Given the description of an element on the screen output the (x, y) to click on. 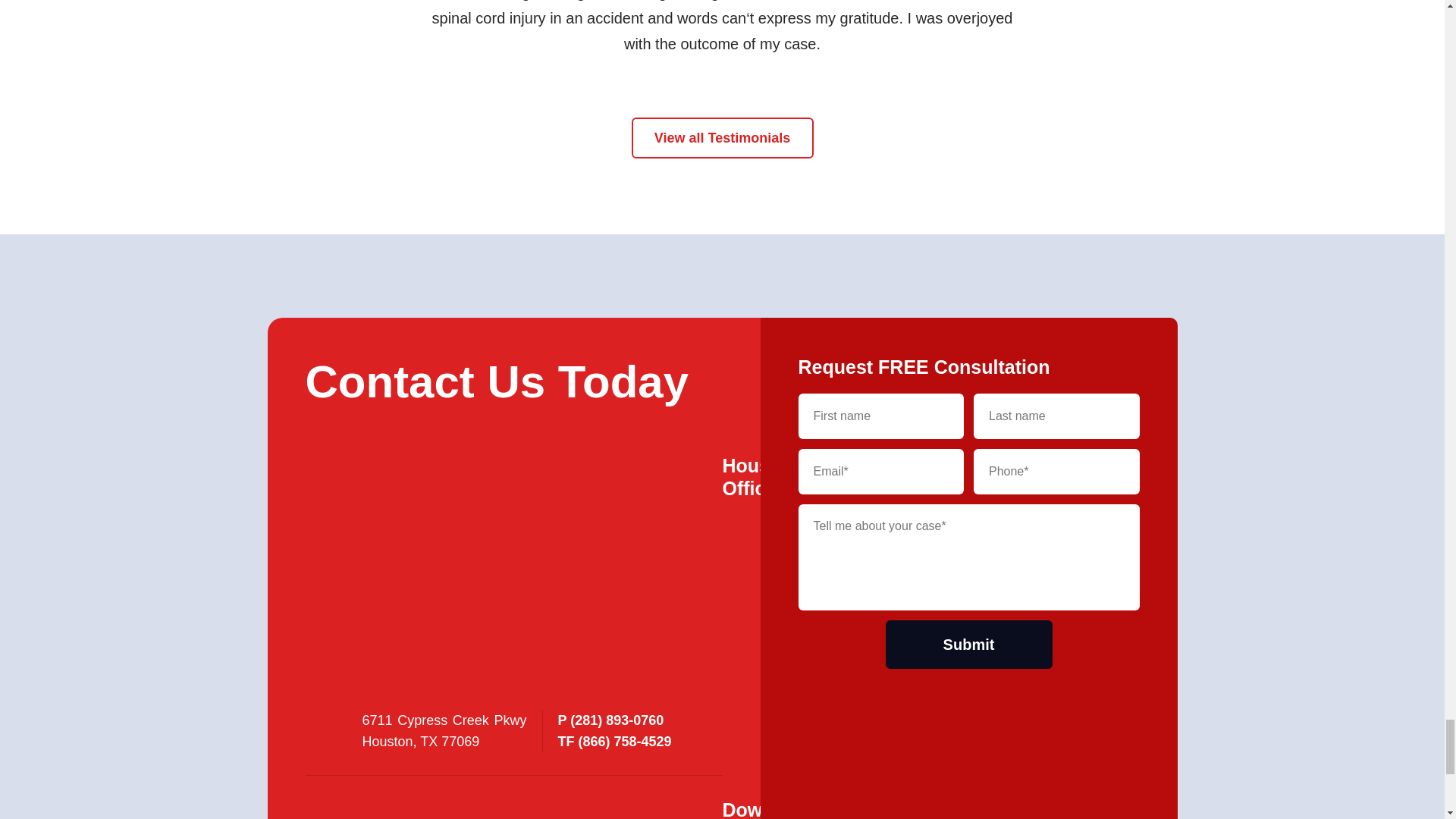
Submit (968, 644)
